Given the description of an element on the screen output the (x, y) to click on. 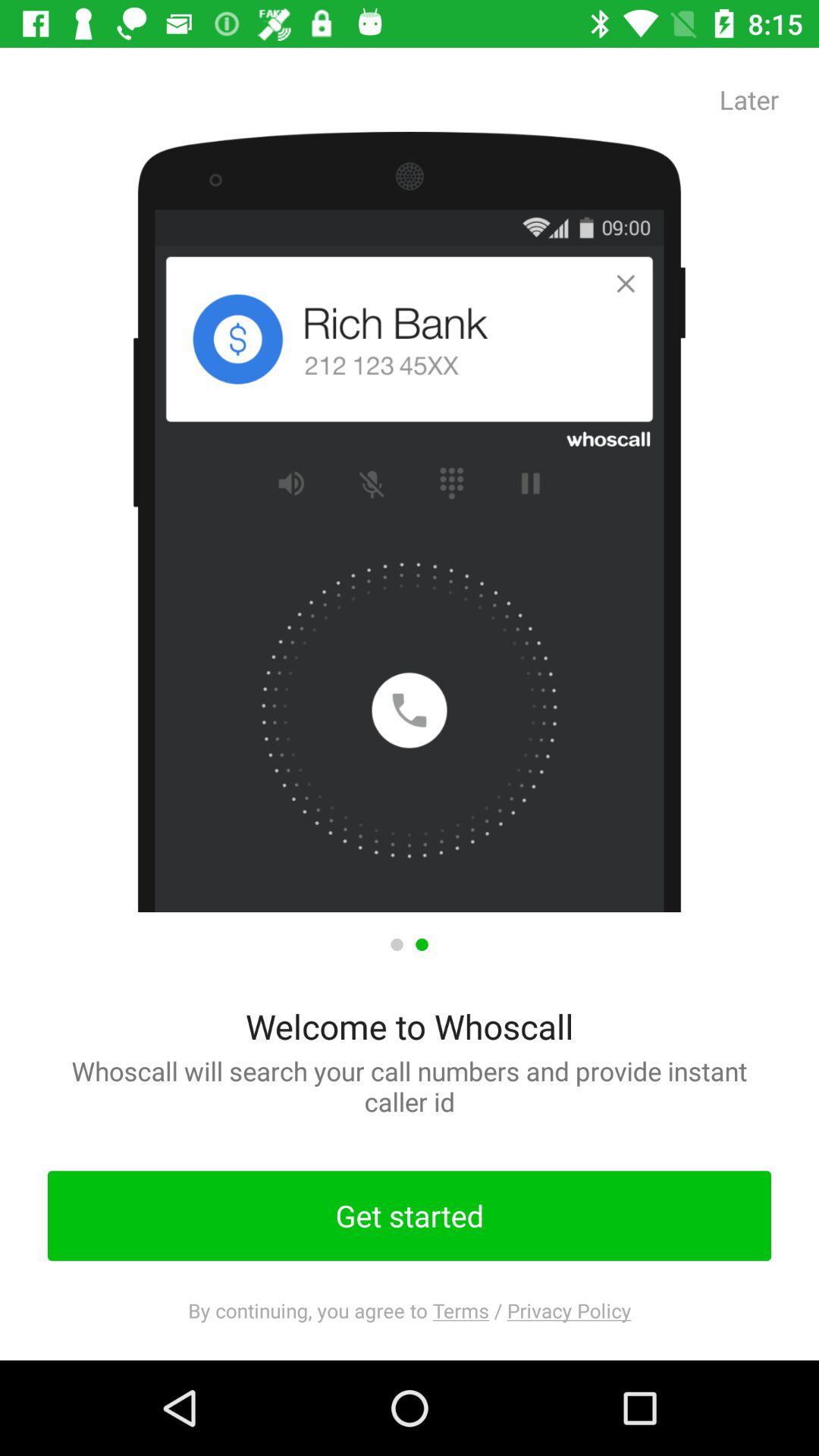
turn off the app at the top right corner (749, 99)
